Given the description of an element on the screen output the (x, y) to click on. 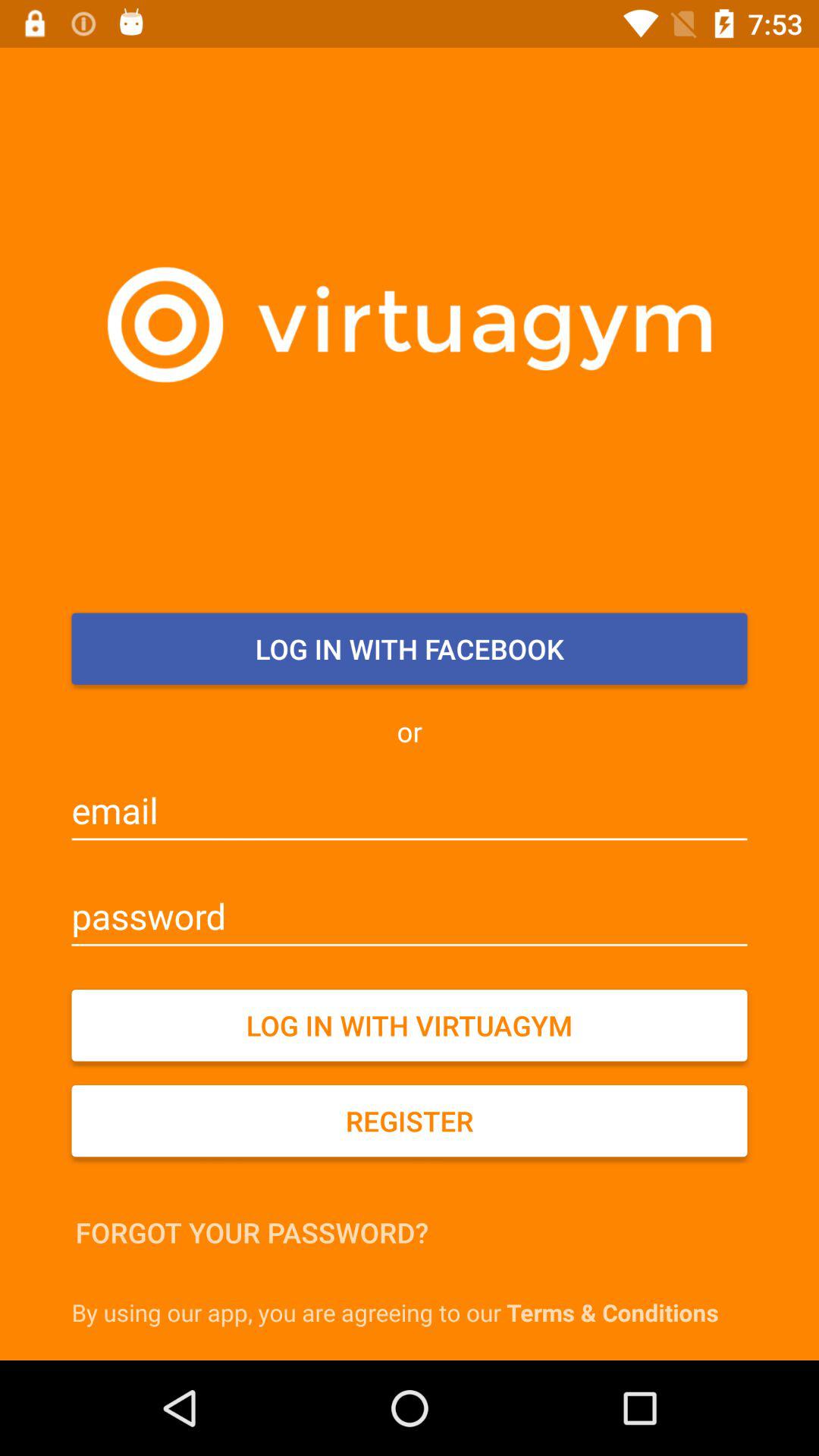
launch item below log in with (409, 1120)
